Given the description of an element on the screen output the (x, y) to click on. 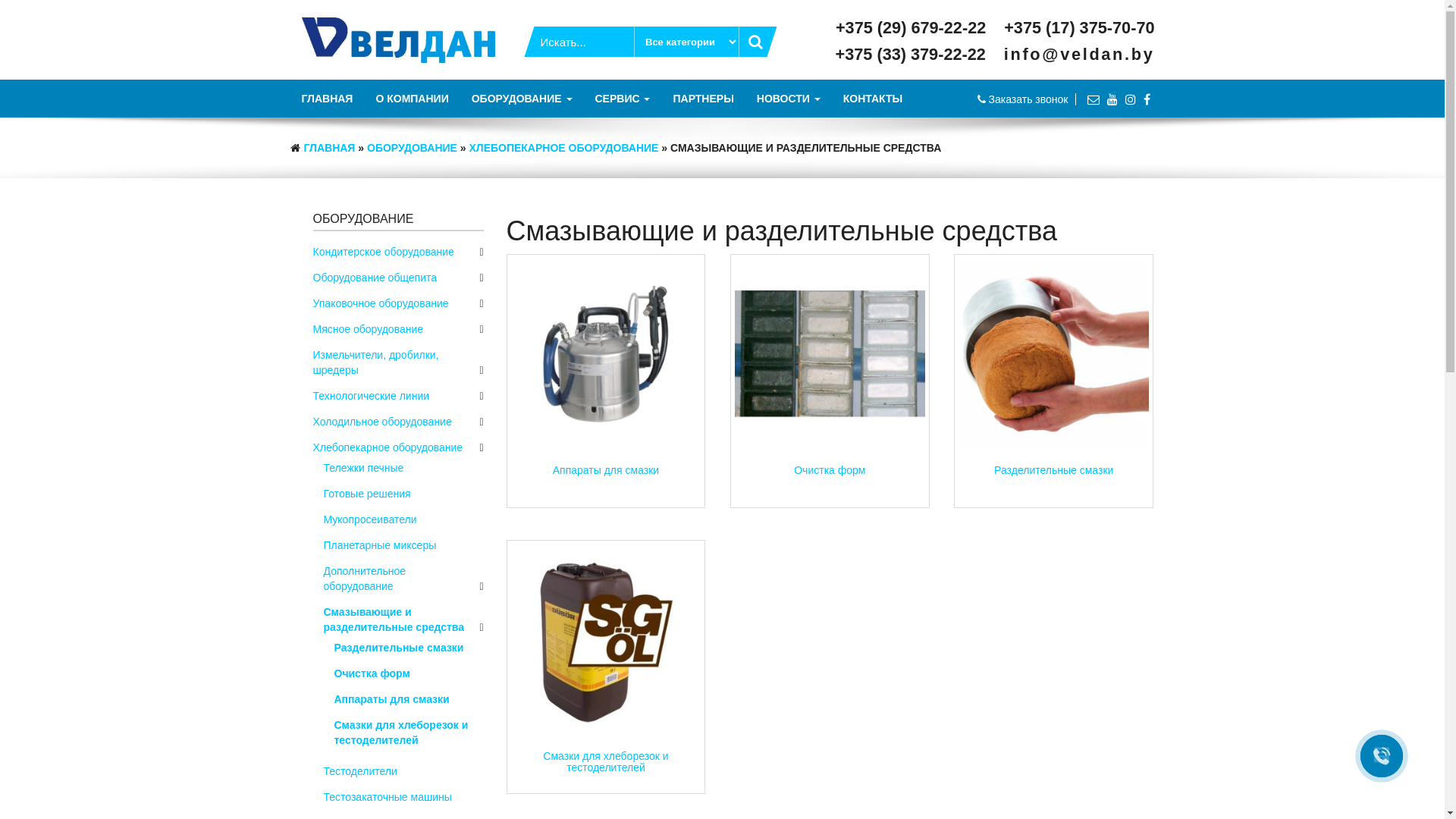
+375 (17) 375-70-70 Element type: text (1079, 27)
+375 (29) 679-22-22 Element type: text (914, 27)
+375 (33) 379-22-22 Element type: text (914, 53)
info@veldan.by Element type: text (1079, 53)
